Given the description of an element on the screen output the (x, y) to click on. 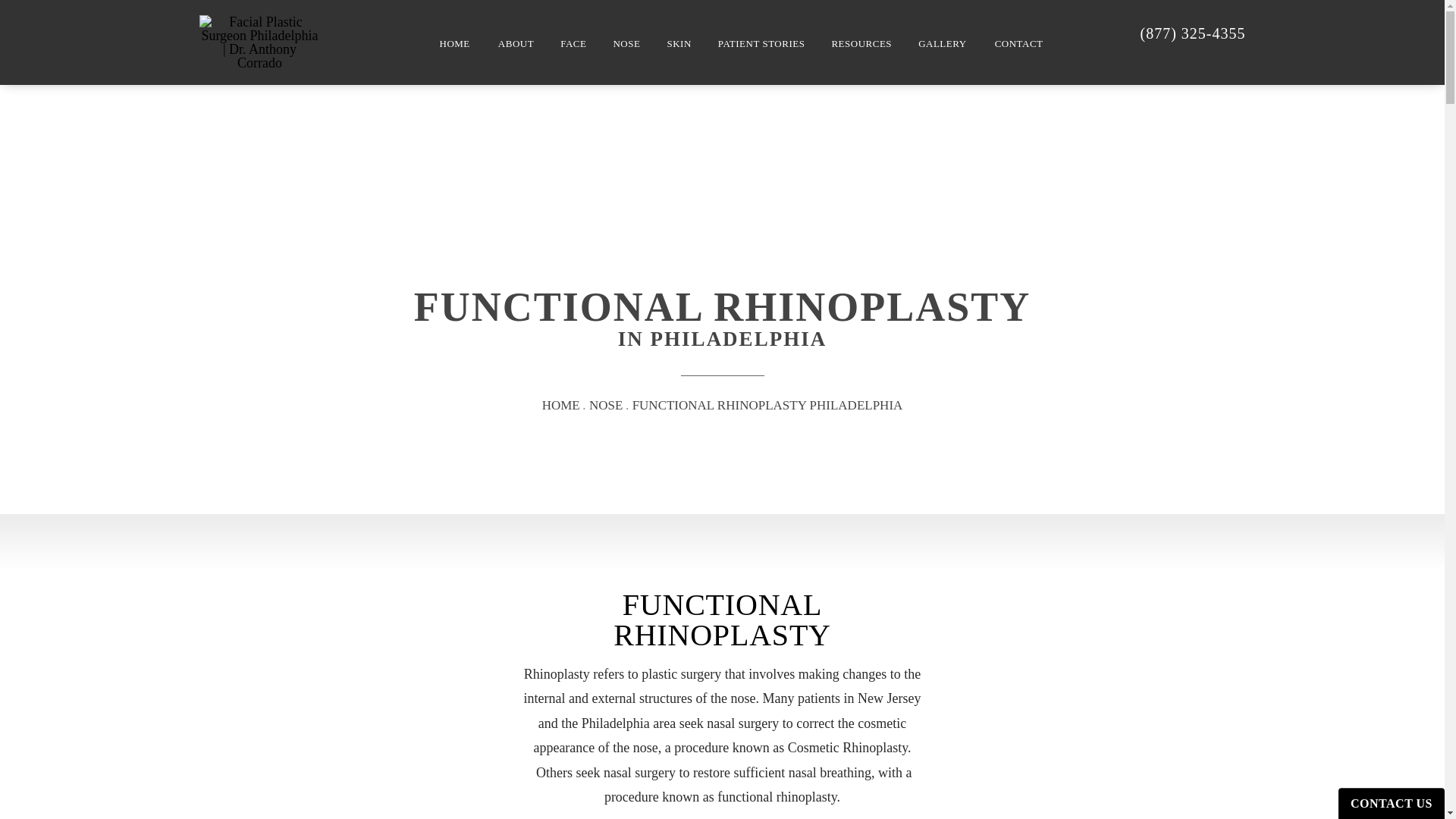
SKIN (678, 43)
ABOUT (515, 43)
NOSE (626, 43)
FACE (573, 43)
HOME (454, 43)
